Given the description of an element on the screen output the (x, y) to click on. 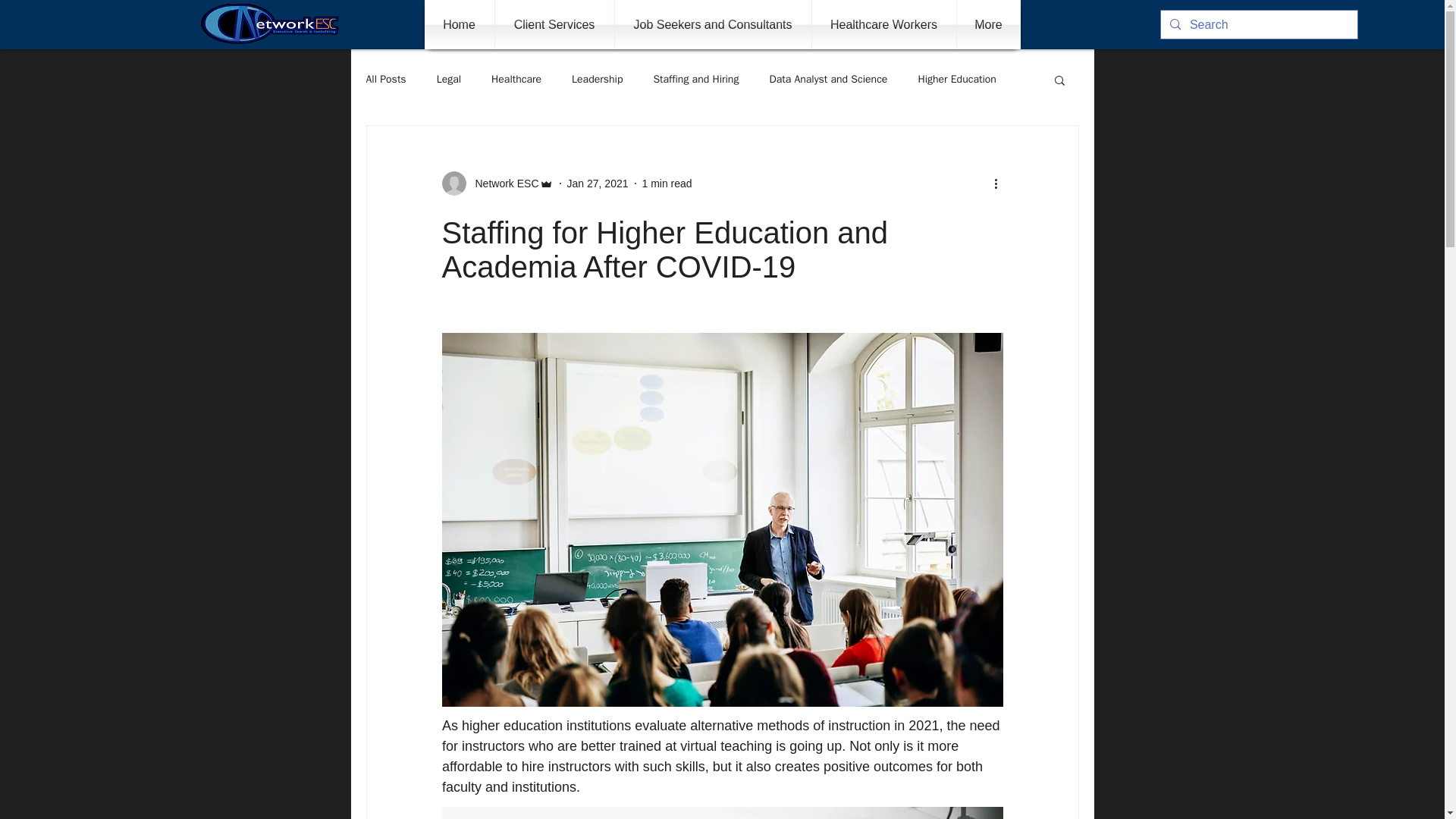
Healthcare (516, 79)
Client Services (553, 24)
Higher Education (956, 79)
Data Analyst and Science (827, 79)
All Posts (385, 79)
1 min read (666, 183)
Jan 27, 2021 (597, 183)
Job Seekers and Consultants (712, 24)
Network ESC (501, 183)
Network ESC (497, 183)
Staffing and Hiring (695, 79)
Home (460, 24)
Leadership (597, 79)
Legal (448, 79)
